Given the description of an element on the screen output the (x, y) to click on. 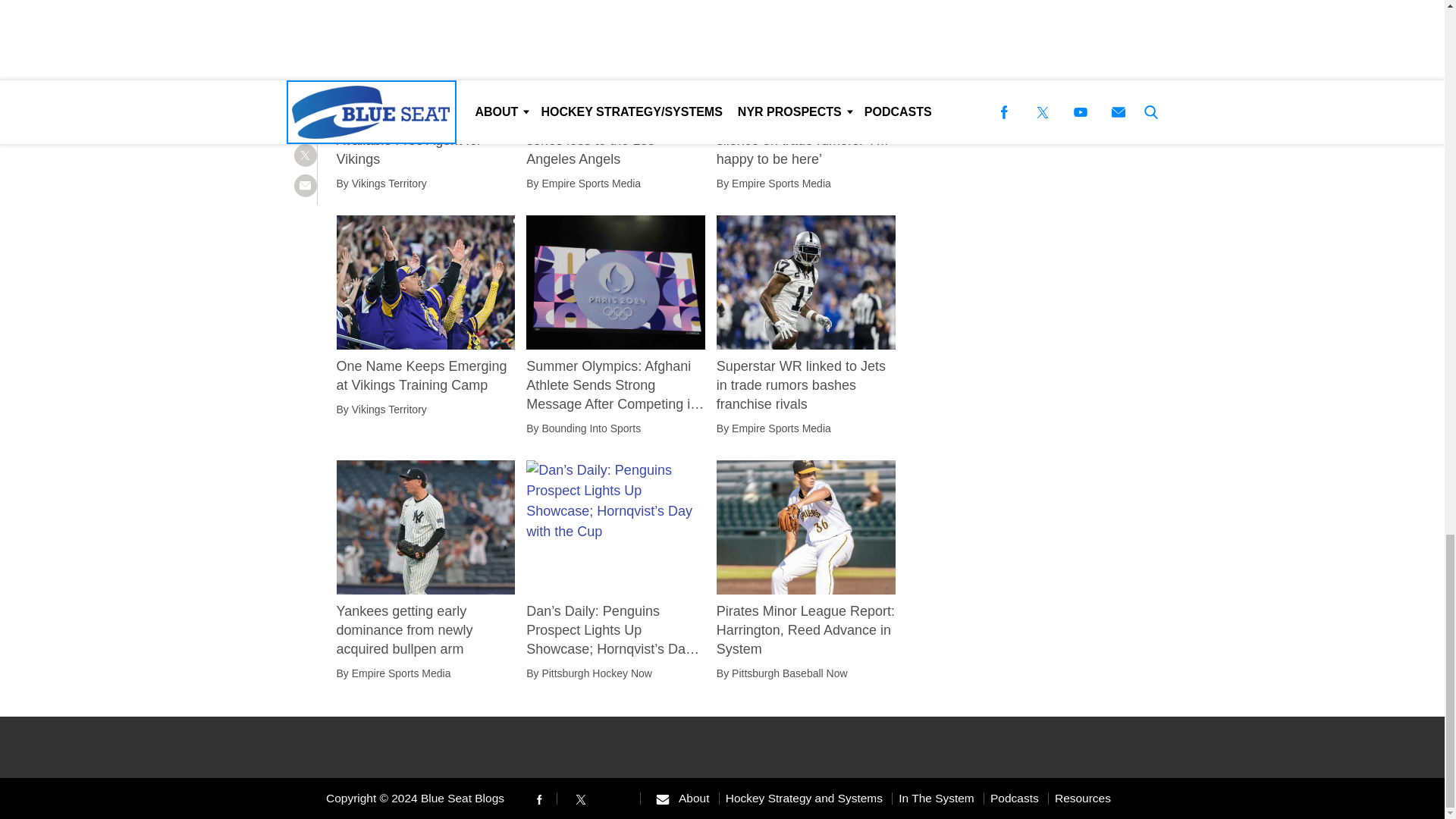
Facebook (539, 799)
Envelope (662, 799)
Twitter (580, 799)
Follow us on Facebook (539, 797)
Keep an Eye on Newly Available Free Agent for Vikings (425, 140)
Send us an email (662, 797)
Follow us on Twitter (580, 797)
Empire Sports Media (590, 183)
Vikings Territory (389, 183)
